Given the description of an element on the screen output the (x, y) to click on. 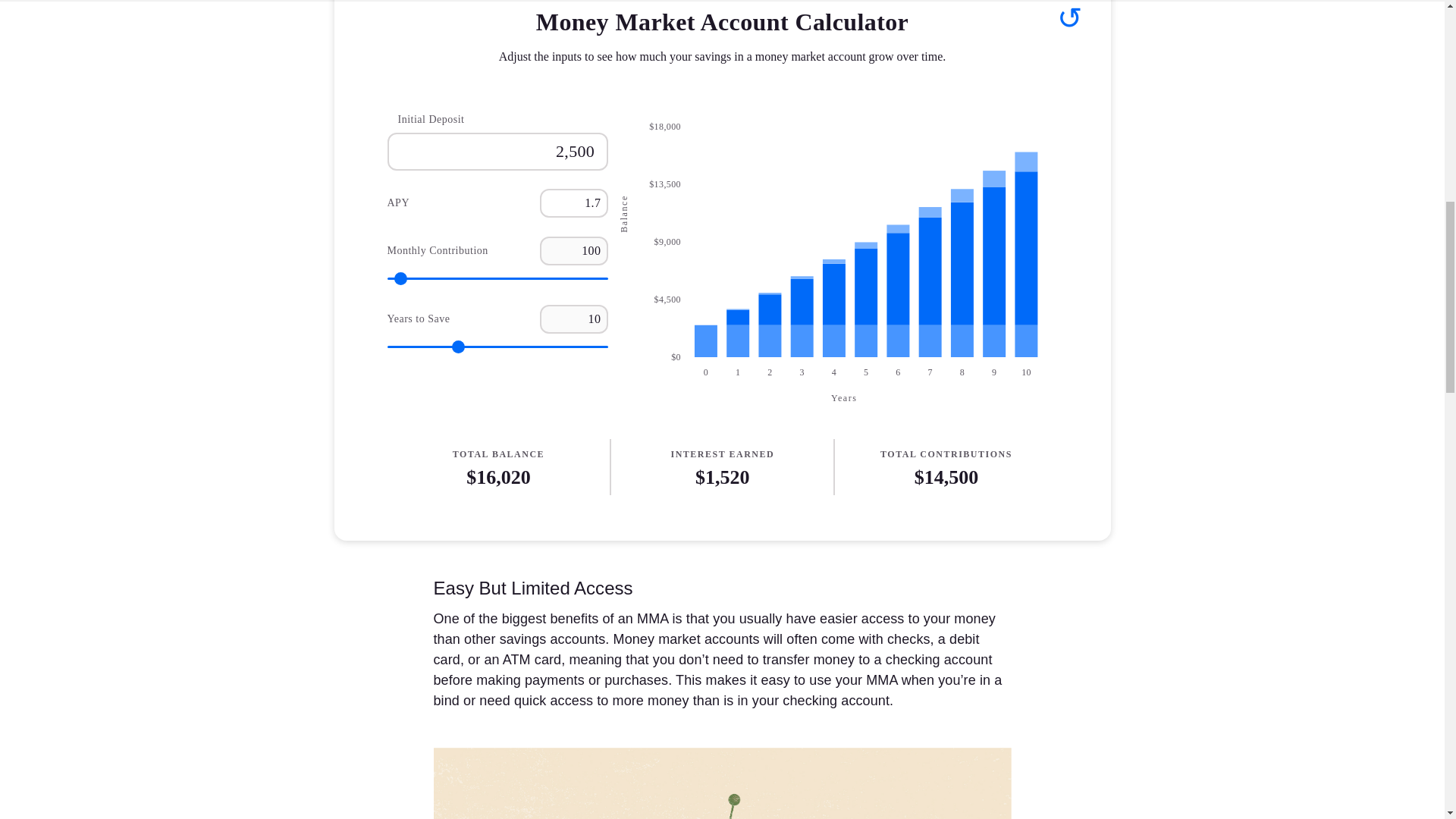
2,500 (497, 152)
10 (574, 319)
1.7 (574, 203)
100 (574, 251)
